Given the description of an element on the screen output the (x, y) to click on. 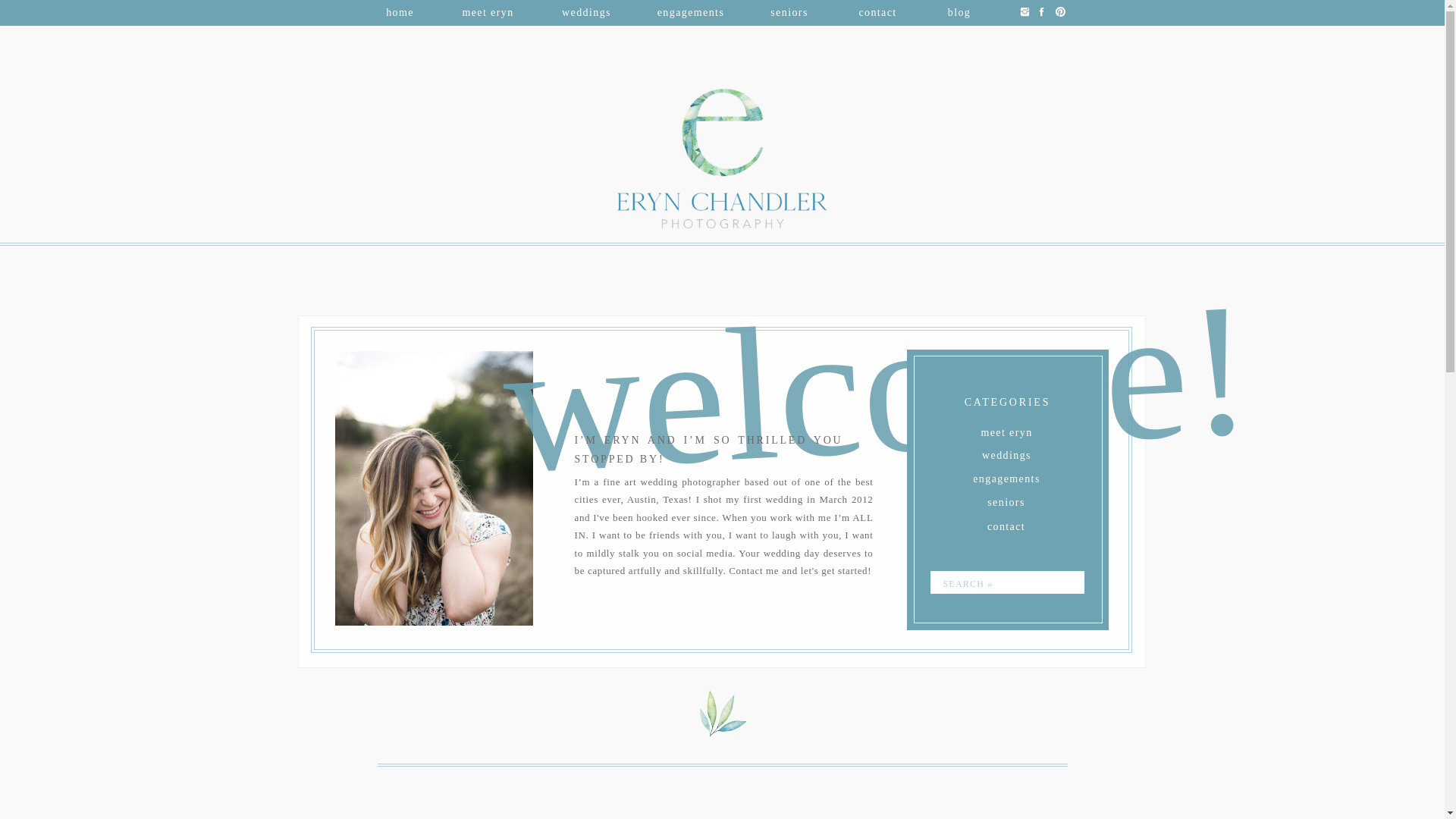
weddings (586, 10)
home (400, 10)
engagements (1006, 476)
seniors (1004, 499)
contact (877, 10)
meet eryn (486, 10)
blog (960, 10)
weddings (1006, 452)
contact (1004, 523)
meet eryn (1006, 430)
seniors (788, 10)
engagements (690, 10)
